Given the description of an element on the screen output the (x, y) to click on. 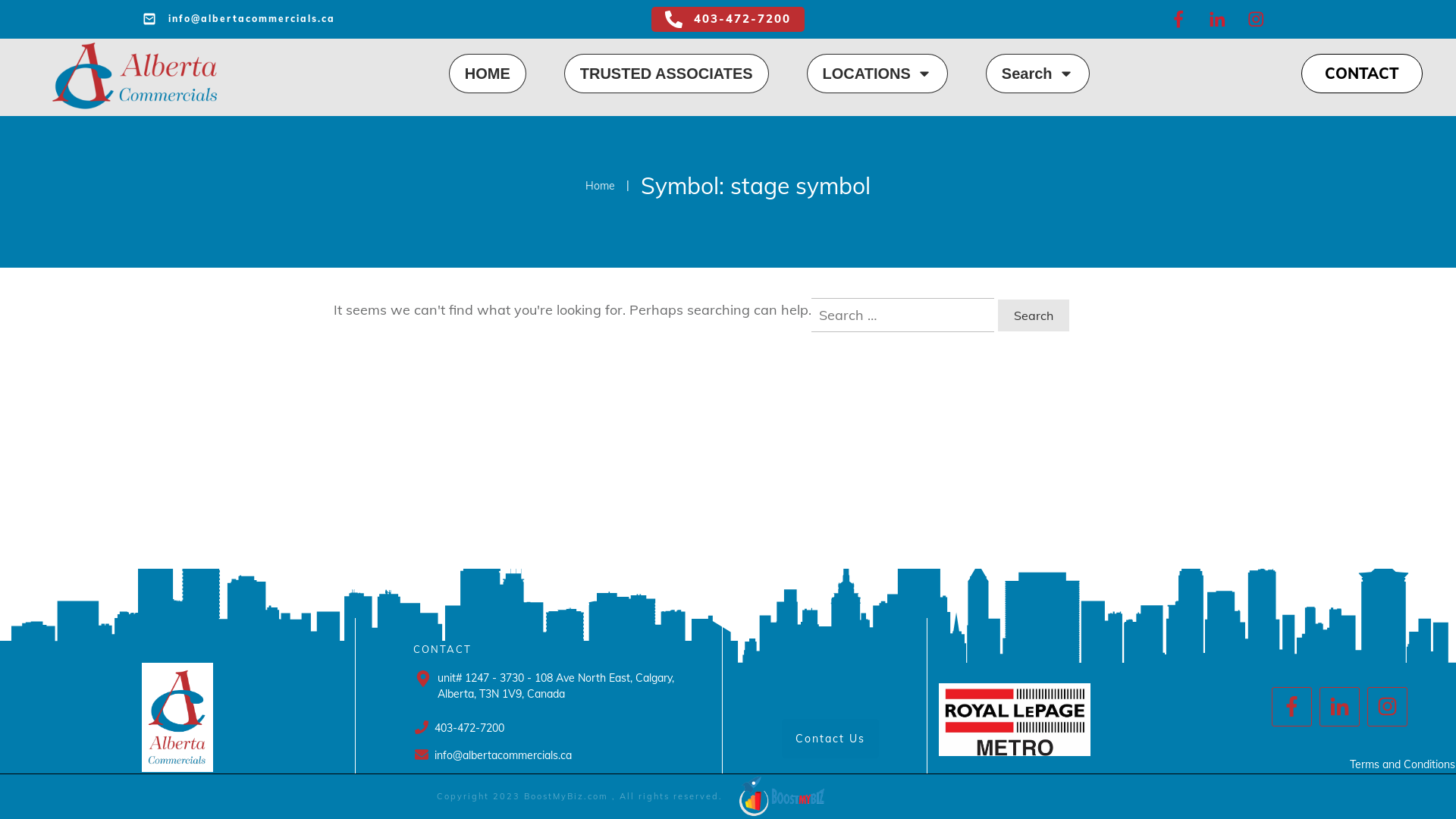
BMB-logo Element type: hover (781, 795)
CONTACT Element type: text (1361, 72)
LOCATIONS Element type: text (876, 72)
LOGO ROYAL LePAGE METRO (Thumbnail) Element type: hover (1014, 719)
403-472-7200 Element type: text (727, 18)
Contact Us Element type: text (829, 738)
Search Element type: text (1033, 315)
TRUSTED ASSOCIATES Element type: text (666, 72)
HOME Element type: text (487, 72)
Search Element type: text (1037, 72)
Home Element type: text (600, 185)
Terms and Conditions Element type: text (1402, 764)
info@albertacommercials.ca Element type: text (238, 18)
alberta commercial logo Element type: hover (177, 717)
